Given the description of an element on the screen output the (x, y) to click on. 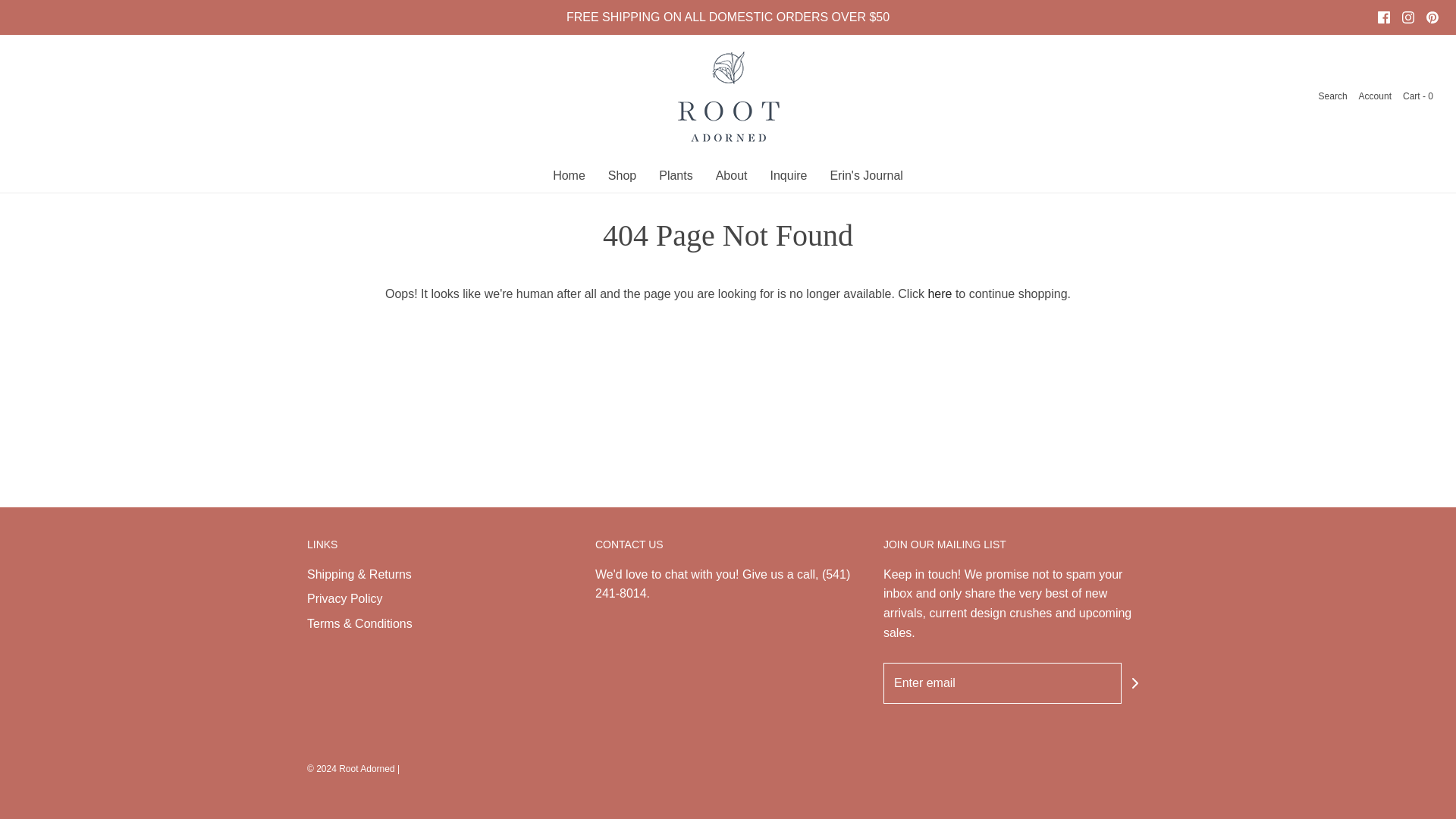
Search (1333, 96)
Pinterest icon (1432, 17)
Cart (1417, 96)
Instagram icon (1407, 17)
Facebook icon (1383, 17)
Log in (1374, 96)
Facebook icon (1383, 17)
Instagram icon (1407, 17)
Pinterest icon (1432, 17)
